Given the description of an element on the screen output the (x, y) to click on. 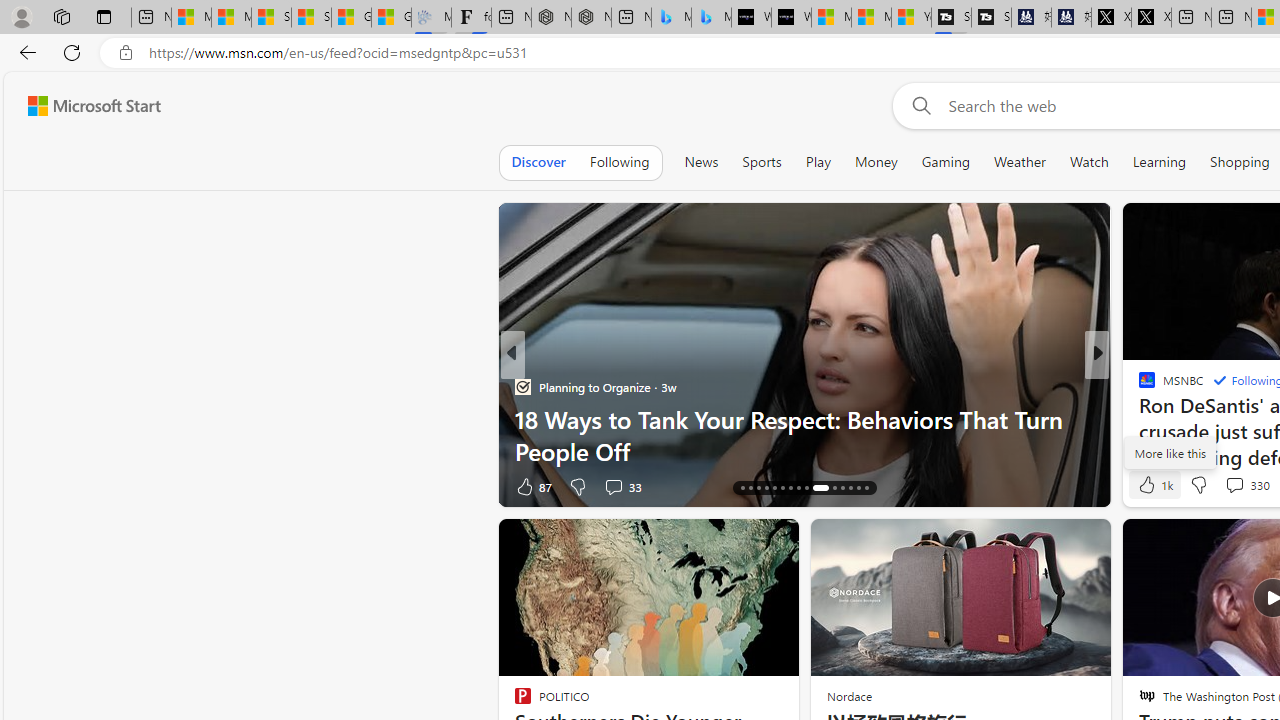
91 Like (1149, 486)
View comments 33 Comment (622, 486)
View comments 213 Comment (11, 485)
View comments 1 Comment (1234, 486)
18 Ways to Tank Your Respect: Behaviors That Turn People Off (804, 435)
